Given the description of an element on the screen output the (x, y) to click on. 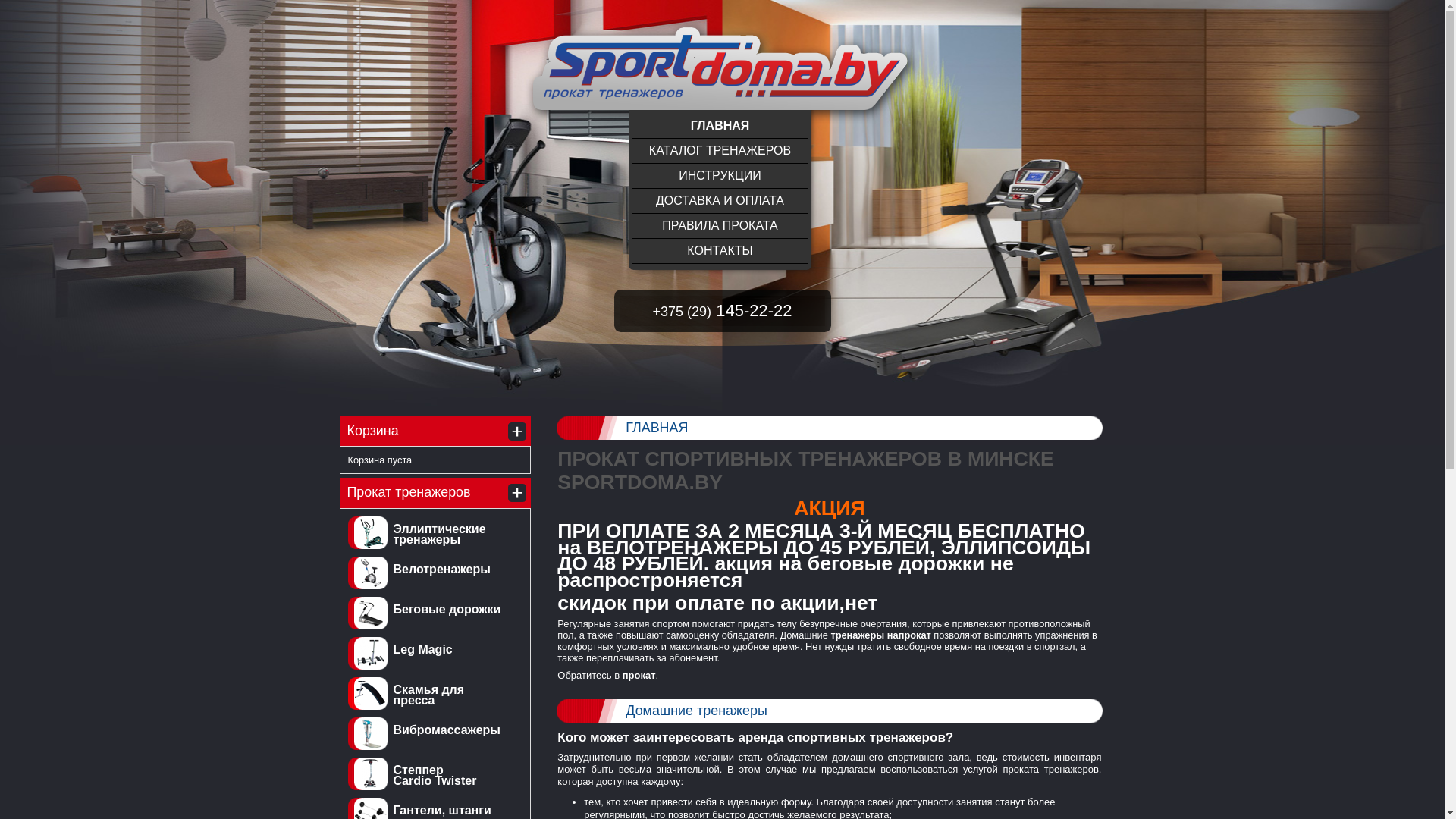
Leg Magic Element type: text (421, 649)
